Given the description of an element on the screen output the (x, y) to click on. 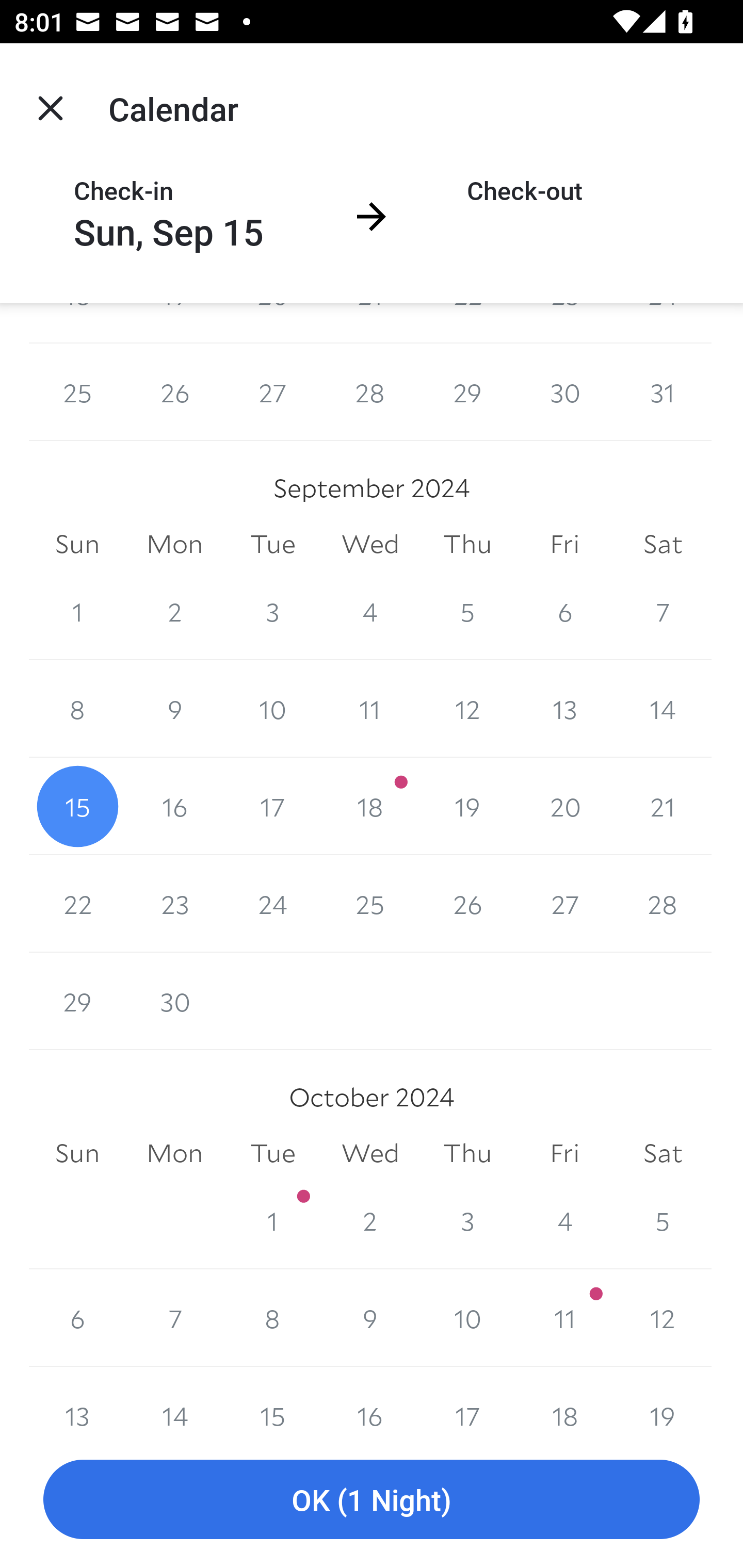
25 25 August 2024 (77, 391)
26 26 August 2024 (174, 391)
27 27 August 2024 (272, 391)
28 28 August 2024 (370, 391)
29 29 August 2024 (467, 391)
30 30 August 2024 (564, 391)
31 31 August 2024 (662, 391)
Sun (77, 543)
Mon (174, 543)
Tue (272, 543)
Wed (370, 543)
Thu (467, 543)
Fri (564, 543)
Sat (662, 543)
1 1 September 2024 (77, 611)
2 2 September 2024 (174, 611)
3 3 September 2024 (272, 611)
4 4 September 2024 (370, 611)
5 5 September 2024 (467, 611)
6 6 September 2024 (564, 611)
7 7 September 2024 (662, 611)
8 8 September 2024 (77, 708)
9 9 September 2024 (174, 708)
10 10 September 2024 (272, 708)
11 11 September 2024 (370, 708)
12 12 September 2024 (467, 708)
13 13 September 2024 (564, 708)
14 14 September 2024 (662, 708)
15 15 September 2024 (77, 805)
16 16 September 2024 (174, 805)
17 17 September 2024 (272, 805)
18 18 September 2024 (370, 805)
19 19 September 2024 (467, 805)
20 20 September 2024 (564, 805)
21 21 September 2024 (662, 805)
22 22 September 2024 (77, 903)
23 23 September 2024 (174, 903)
24 24 September 2024 (272, 903)
25 25 September 2024 (370, 903)
26 26 September 2024 (467, 903)
27 27 September 2024 (564, 903)
28 28 September 2024 (662, 903)
29 29 September 2024 (77, 1001)
30 30 September 2024 (174, 1001)
Sun (77, 1153)
Mon (174, 1153)
Tue (272, 1153)
Wed (370, 1153)
Thu (467, 1153)
